Given the description of an element on the screen output the (x, y) to click on. 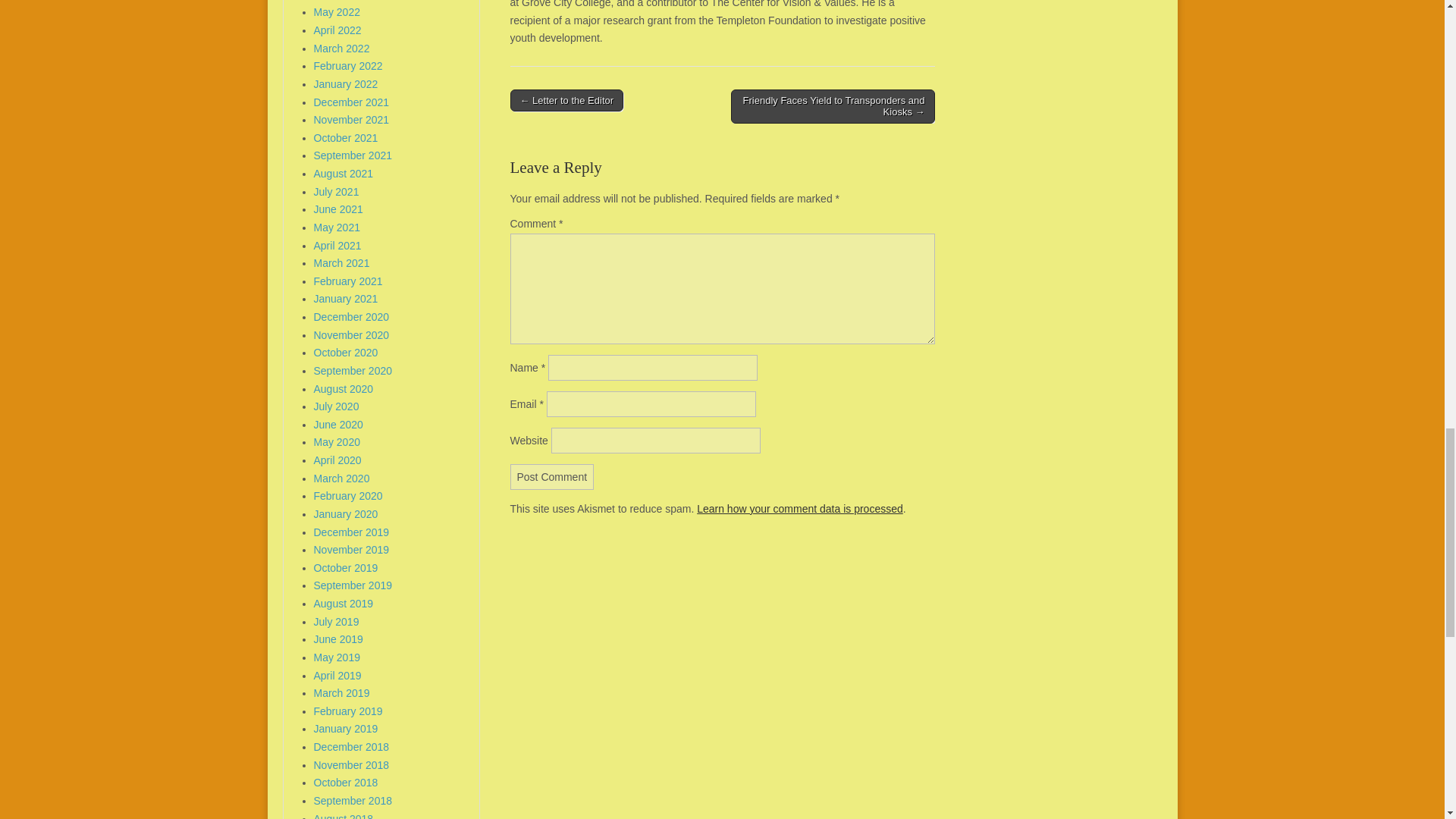
Post Comment (551, 476)
Learn how your comment data is processed (799, 508)
Post Comment (551, 476)
